Given the description of an element on the screen output the (x, y) to click on. 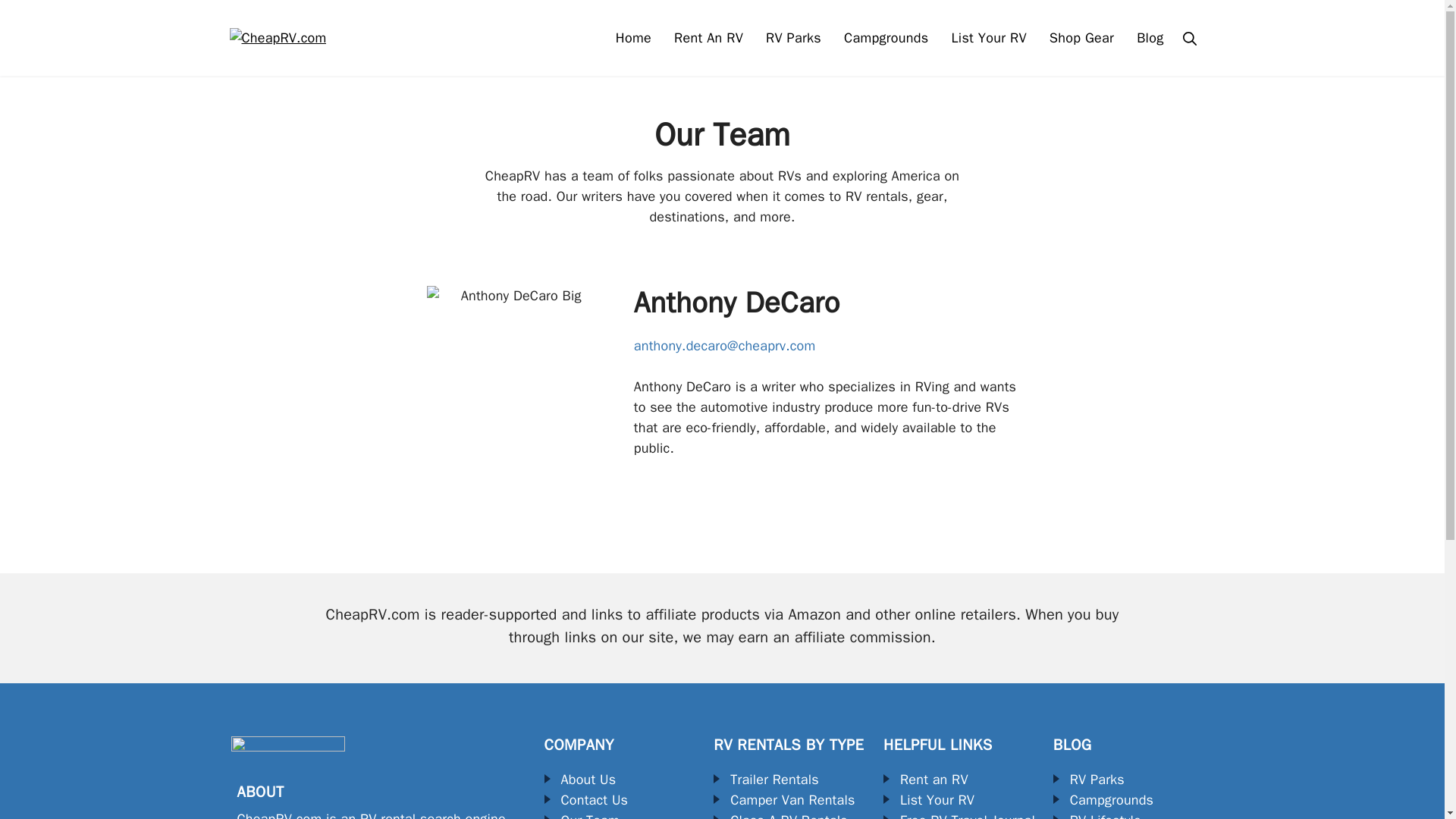
RV Parks (793, 37)
List Your RV (989, 37)
Trailer Rentals (765, 779)
Shop Gear (1081, 37)
Free RV Travel Journal (959, 814)
Home (633, 37)
List Your RV (928, 800)
Rent an RV (925, 779)
Rent An RV (708, 37)
Camper Van Rentals (783, 800)
